Given the description of an element on the screen output the (x, y) to click on. 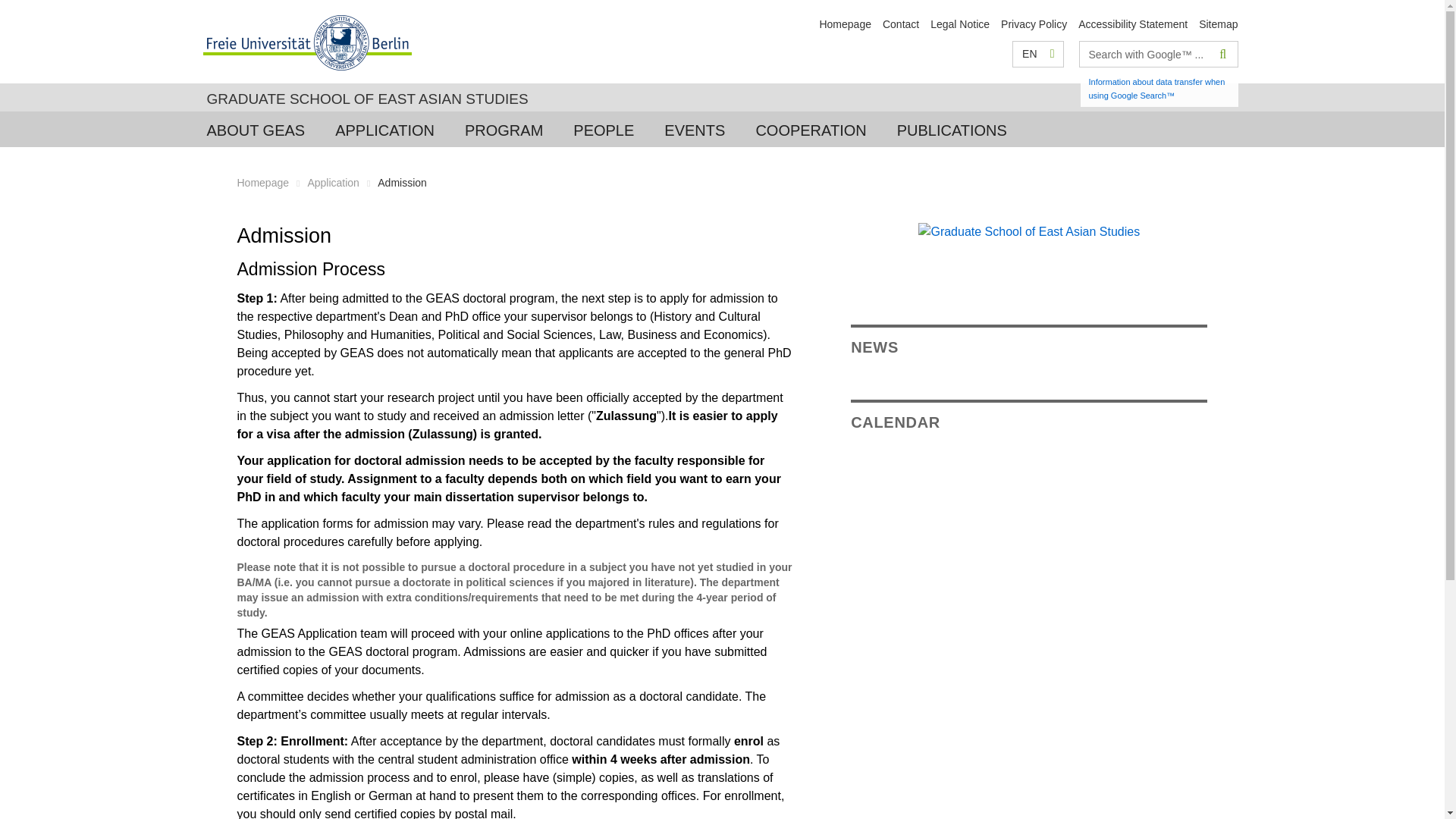
Homepage (844, 24)
Please enter search term here (1144, 53)
loading... (952, 129)
EVENTS (694, 129)
PROGRAM (503, 129)
Application (333, 182)
Privacy Policy (1034, 24)
APPLICATION (384, 129)
loading... (603, 129)
loading... (503, 129)
